Given the description of an element on the screen output the (x, y) to click on. 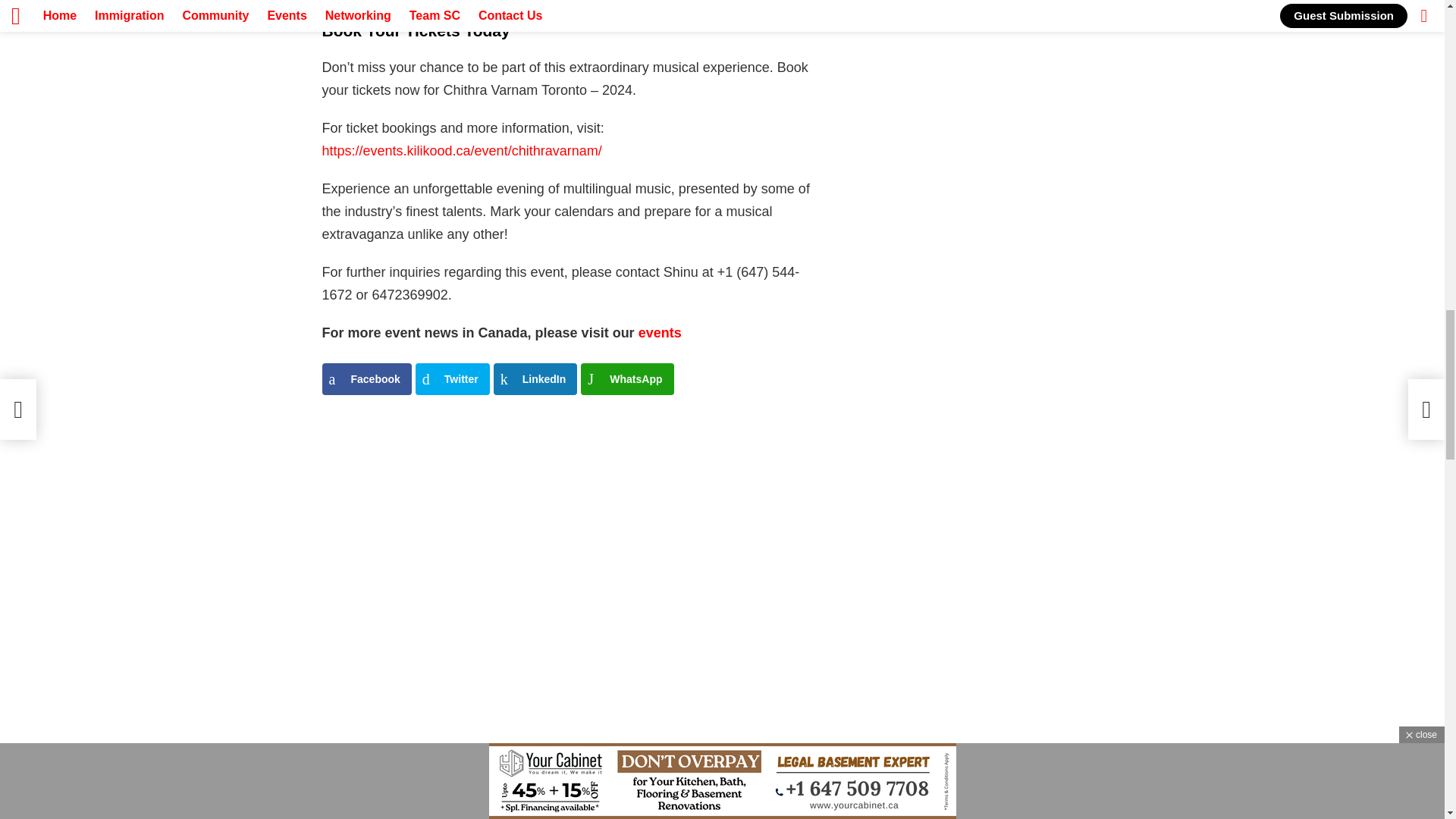
Share on Facebook (365, 378)
Share on LinkedIn (535, 378)
Share on Twitter (451, 378)
